Given the description of an element on the screen output the (x, y) to click on. 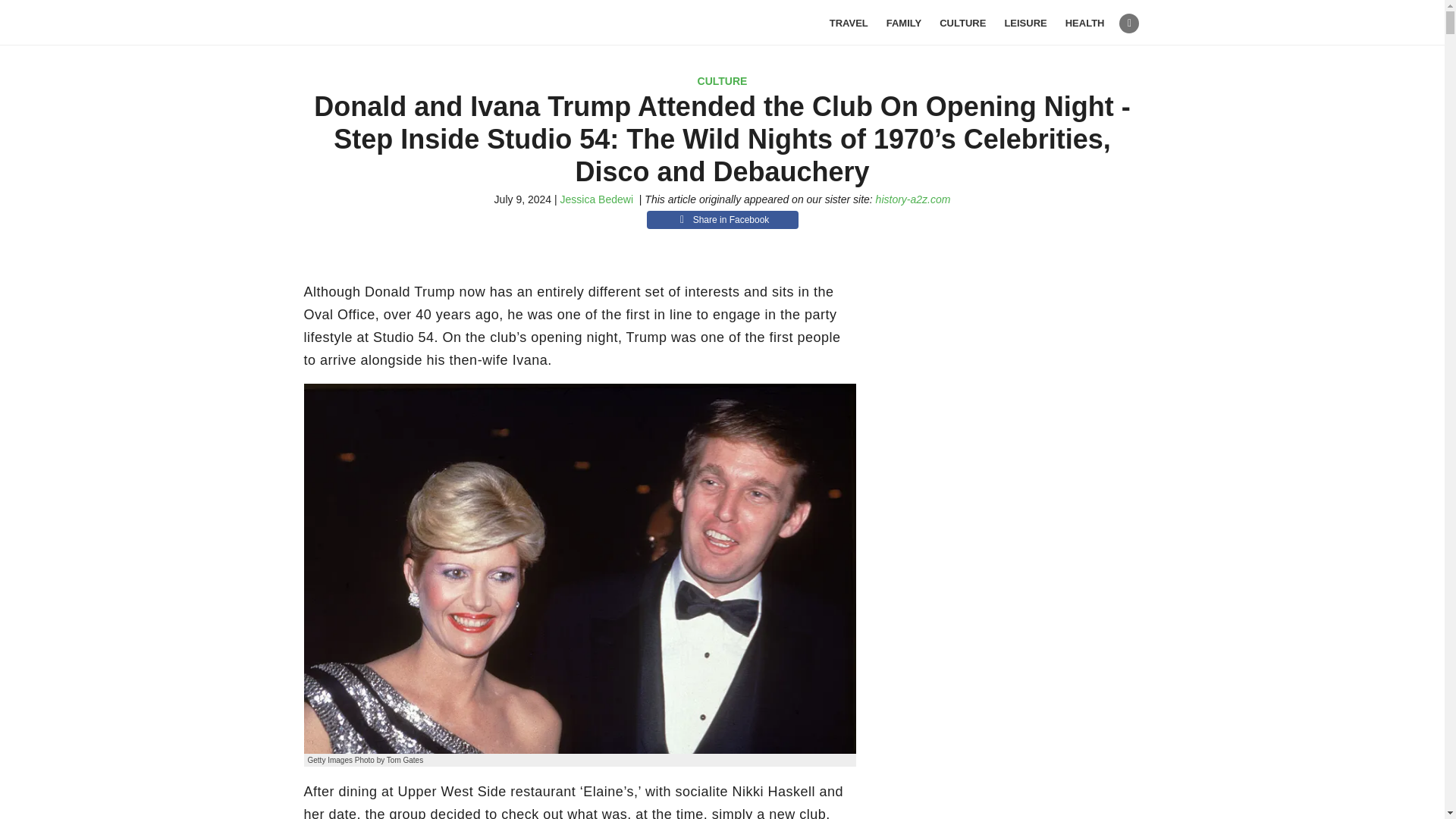
TRAVEL (848, 23)
CULTURE (962, 23)
LEISURE (1025, 23)
HEALTH (1085, 23)
Share in Facebook (721, 219)
Facebook (1128, 23)
CULTURE (722, 80)
history-a2z.com (913, 199)
Daily Choices (391, 22)
